Given the description of an element on the screen output the (x, y) to click on. 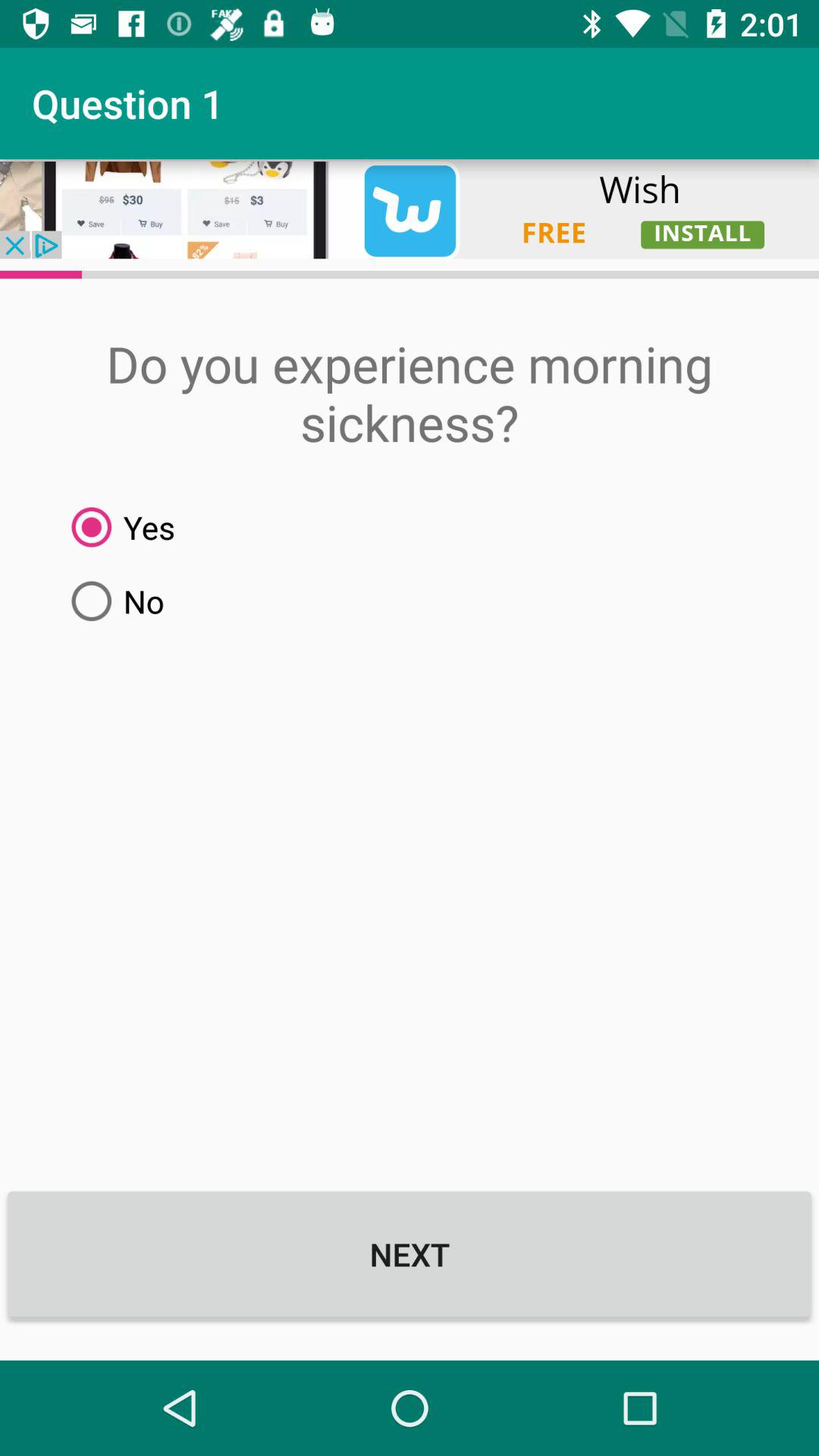
go to advert (409, 208)
